Given the description of an element on the screen output the (x, y) to click on. 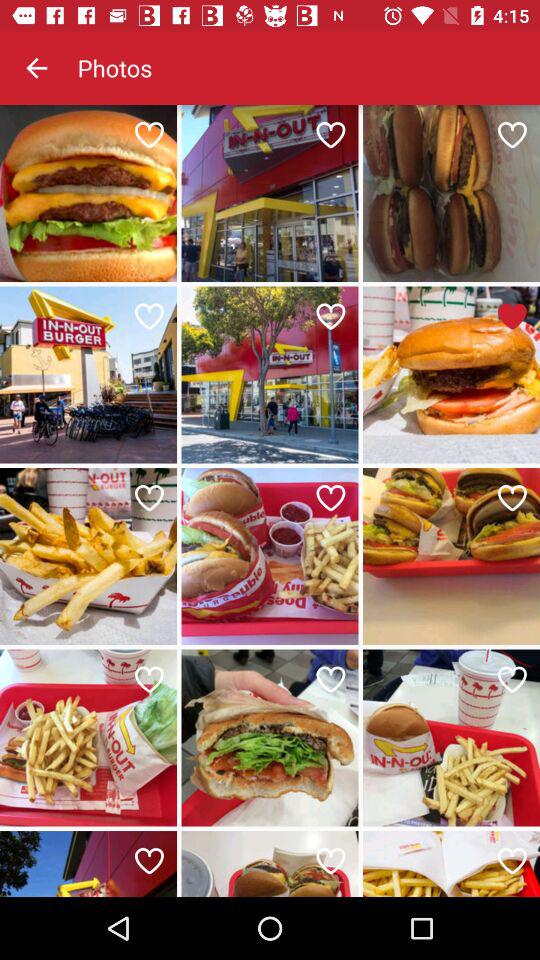
turn off icon to the left of photos (36, 68)
